Given the description of an element on the screen output the (x, y) to click on. 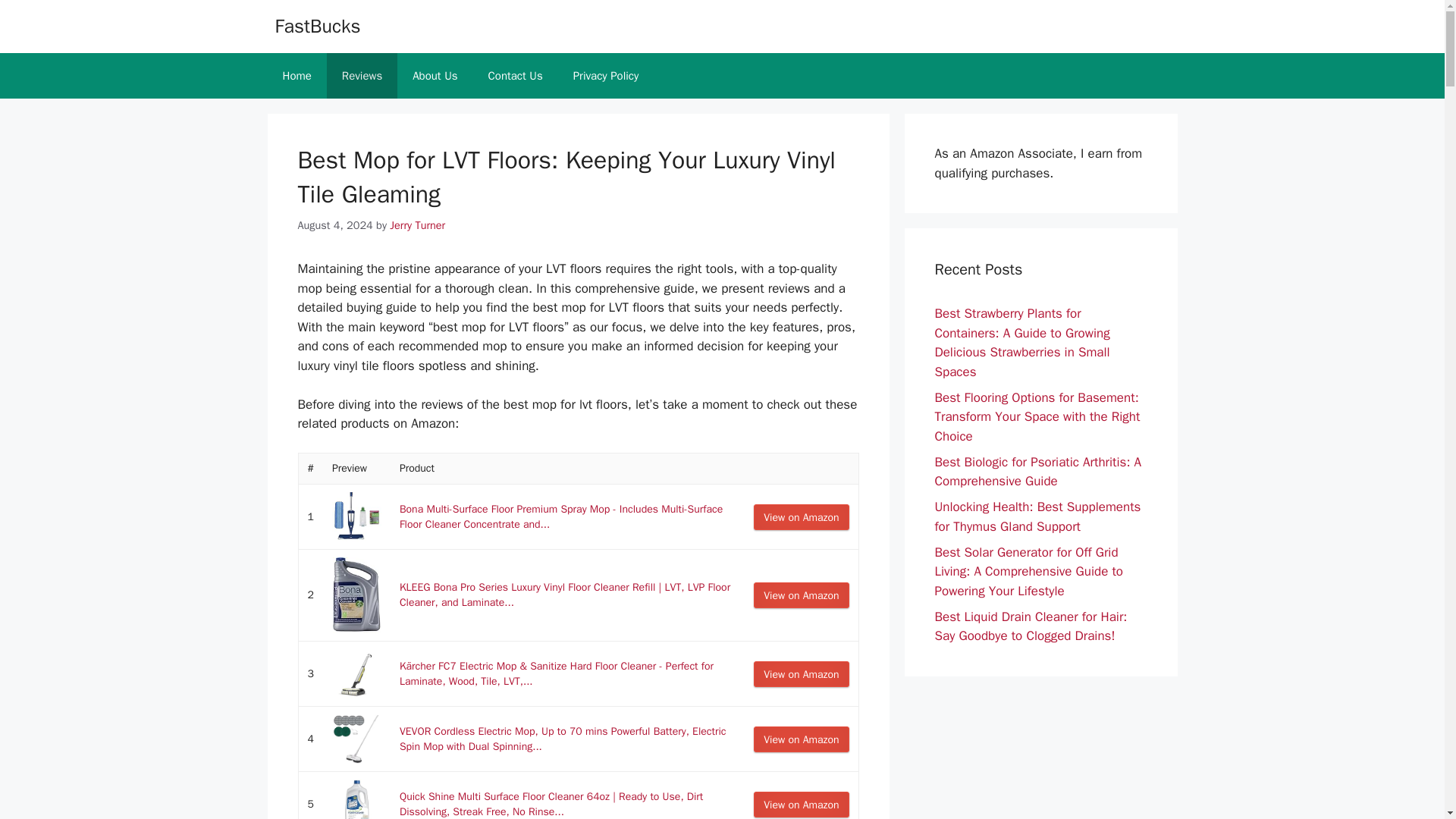
View on Amazon (801, 516)
FastBucks (317, 25)
Contact Us (515, 75)
View on Amazon (801, 673)
View on Amazon (801, 739)
About Us (434, 75)
Home (296, 75)
Privacy Policy (605, 75)
View on Amazon (801, 595)
View on Amazon (801, 804)
